Given the description of an element on the screen output the (x, y) to click on. 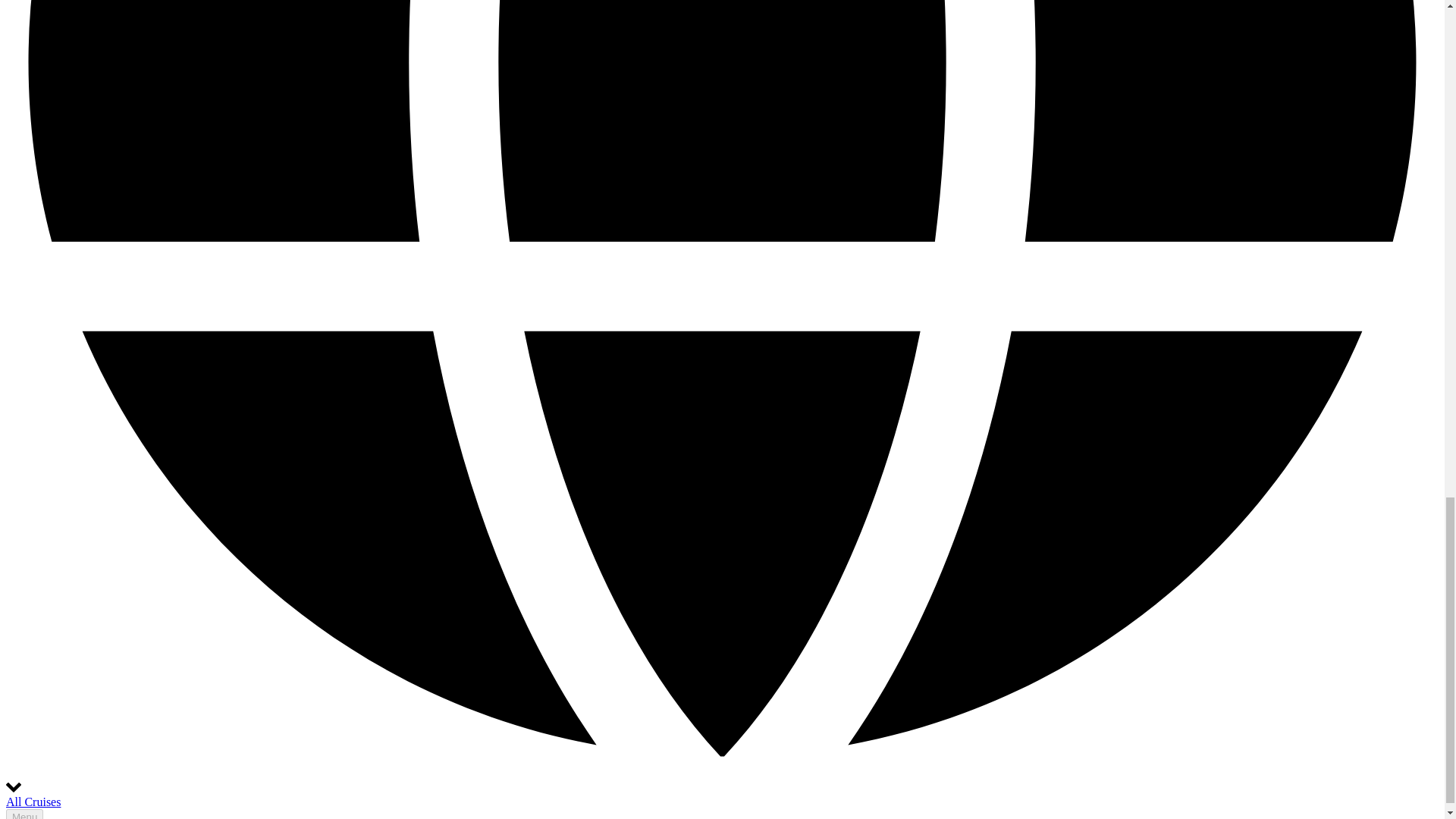
Chevron down (13, 786)
